Given the description of an element on the screen output the (x, y) to click on. 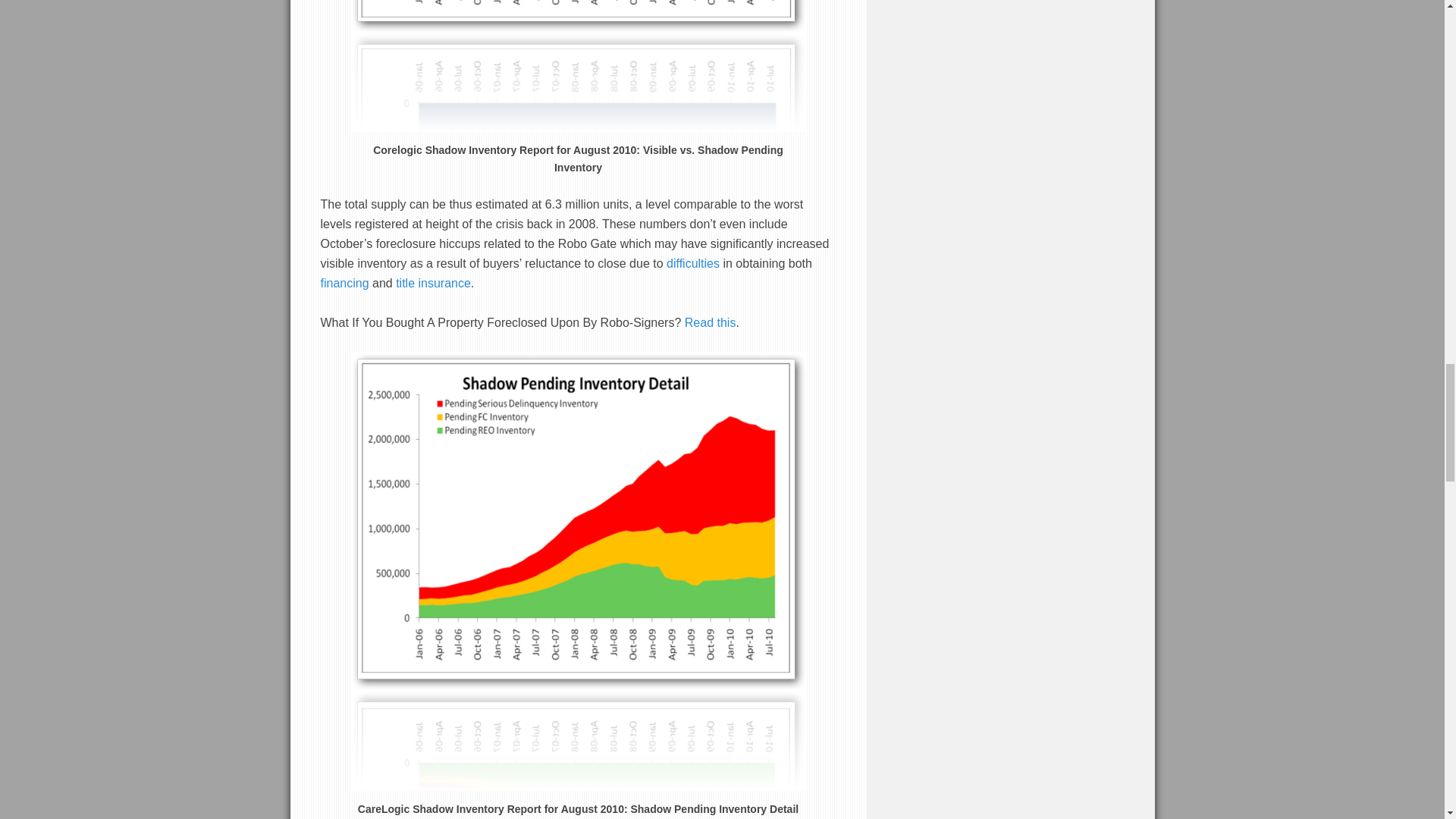
title insurance (433, 282)
Read this (710, 321)
financing (346, 282)
difficulties (692, 262)
